Given the description of an element on the screen output the (x, y) to click on. 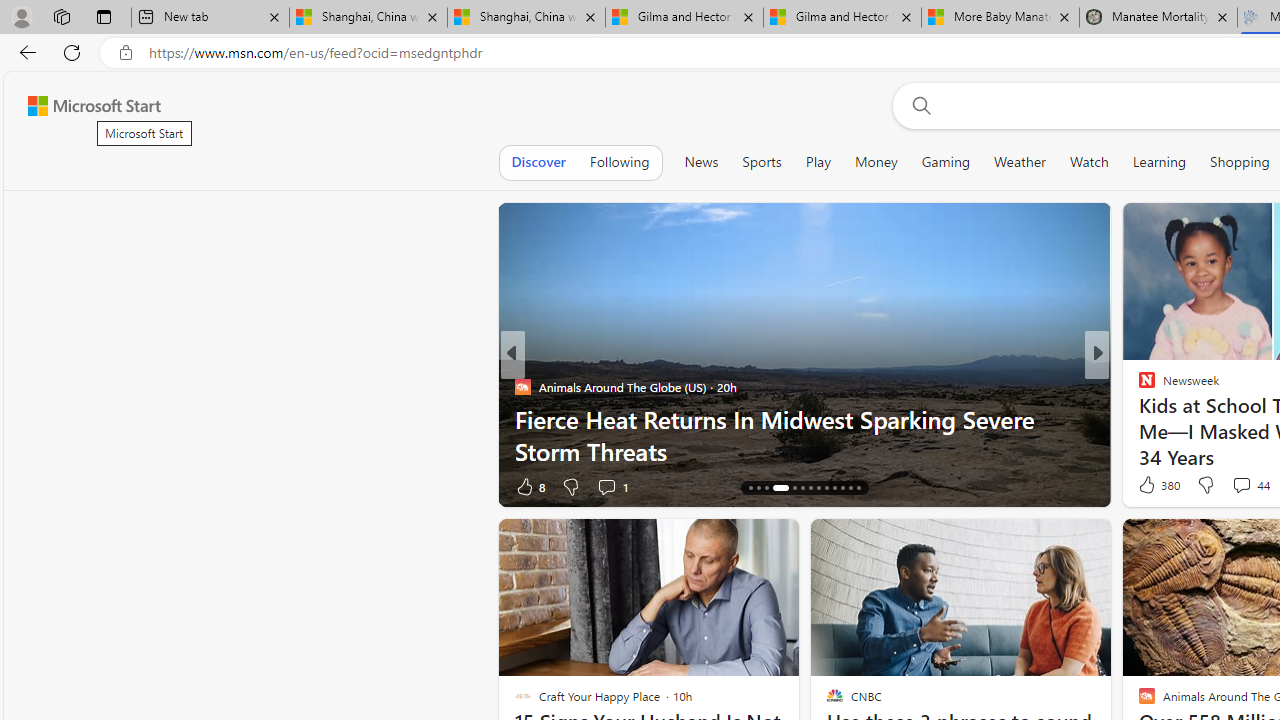
AutomationID: tab-19 (801, 487)
29 Like (1149, 486)
AutomationID: tab-18 (793, 487)
Rarest.org (1138, 418)
13 Like (1149, 486)
AutomationID: tab-17 (780, 487)
5 Like (1145, 486)
View comments 29 Comment (11, 485)
26 Like (1149, 486)
The Weather Channel (1138, 418)
